Given the description of an element on the screen output the (x, y) to click on. 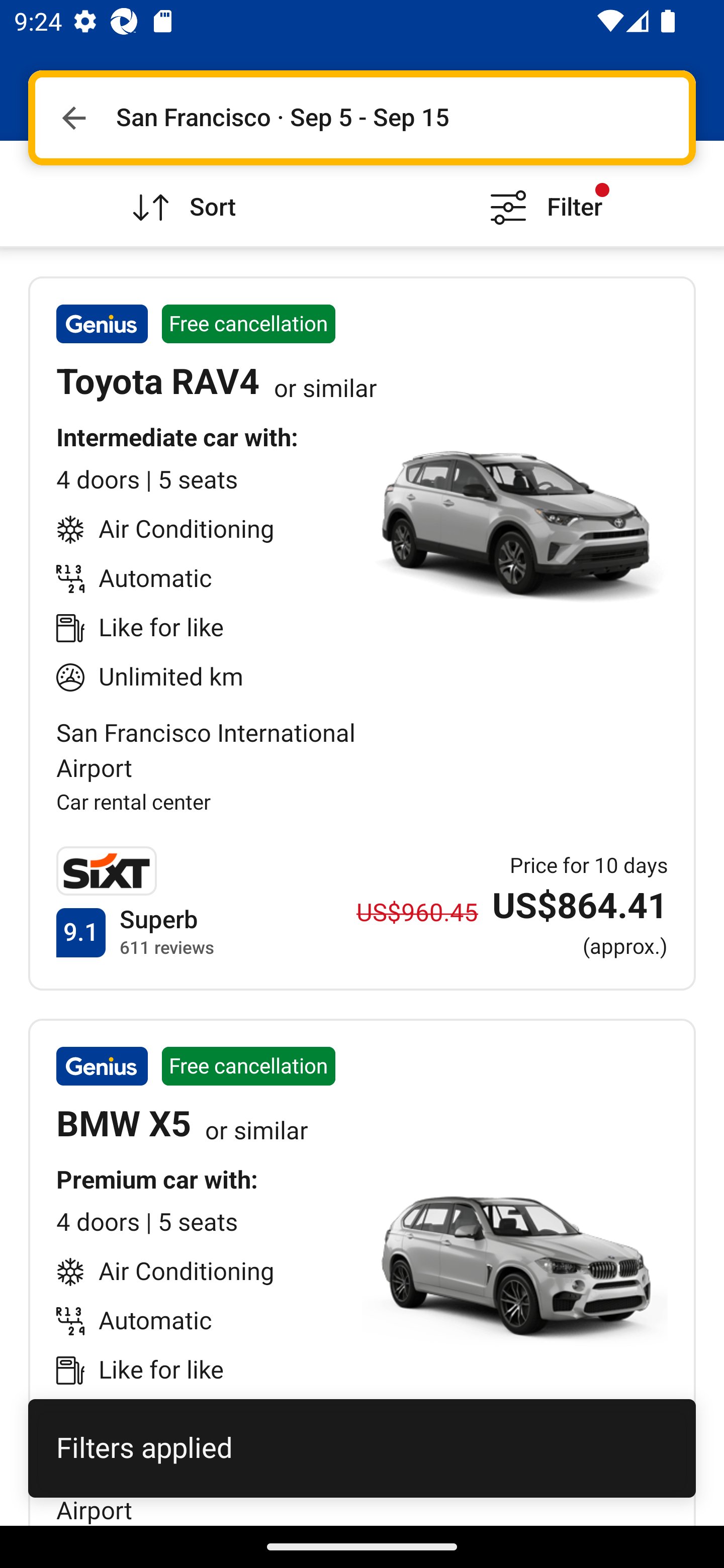
Back to previous screen (73, 117)
Sort (181, 193)
Filter (543, 193)
